Given the description of an element on the screen output the (x, y) to click on. 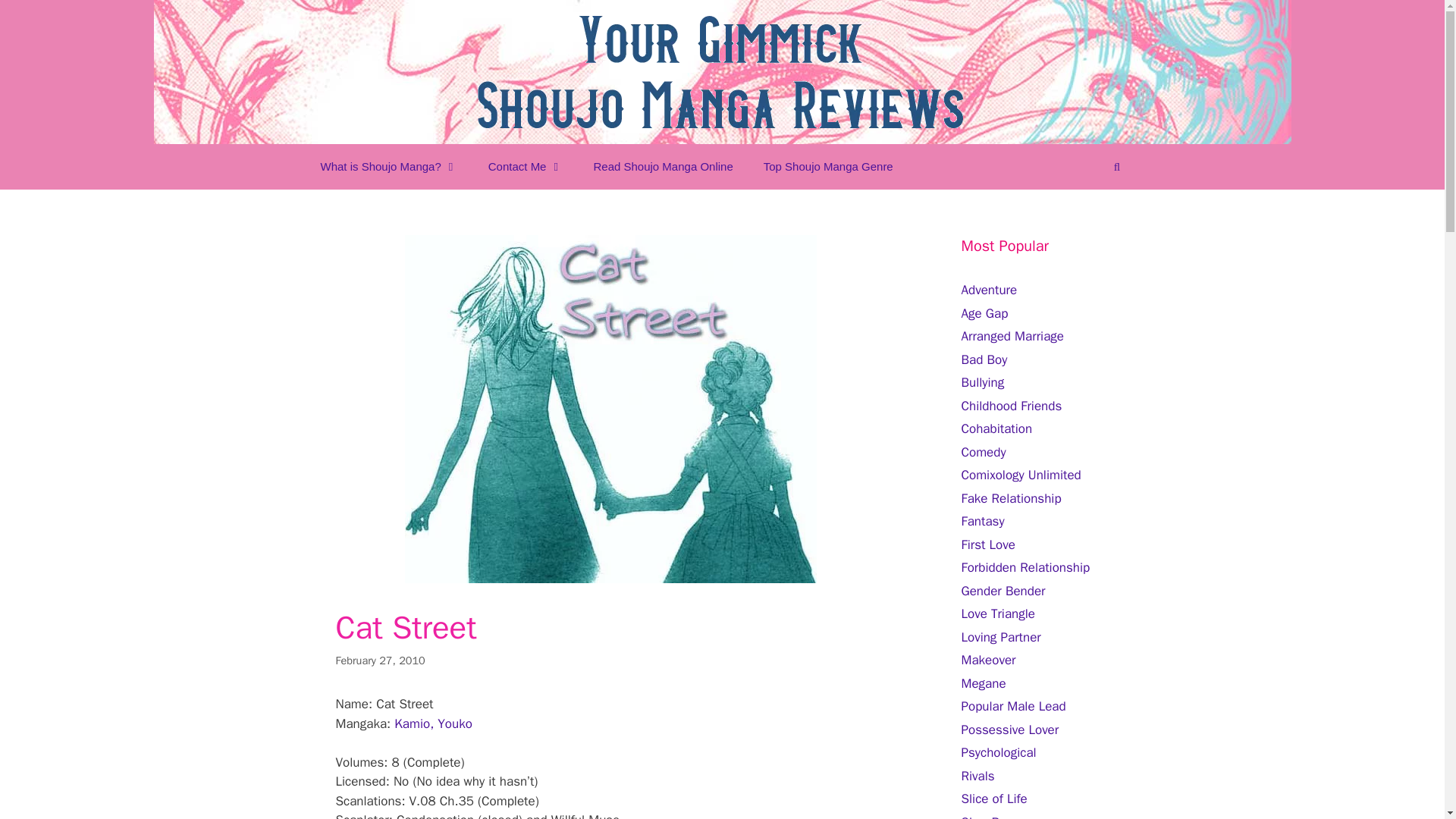
Shoujo Manga featuring a Love Triangle (997, 613)
Comedic Shoujo and Josei Manga (983, 452)
Shoujo Manga and Josei Manga with a Bad Boy lead. (983, 359)
Contact Me (525, 166)
Shoujo and Josei Manga featuring a male lead with glasses (983, 682)
Shoujo and Josei Manga with a popular male lead. (1012, 706)
Kamio, Youko (432, 723)
Gender Bender Shoujo and Josei Manga (1002, 590)
Shoujo Manga that has Bullying as a topic (982, 382)
Shoujo Manga featuring Arranged Marriage (1012, 335)
